Given the description of an element on the screen output the (x, y) to click on. 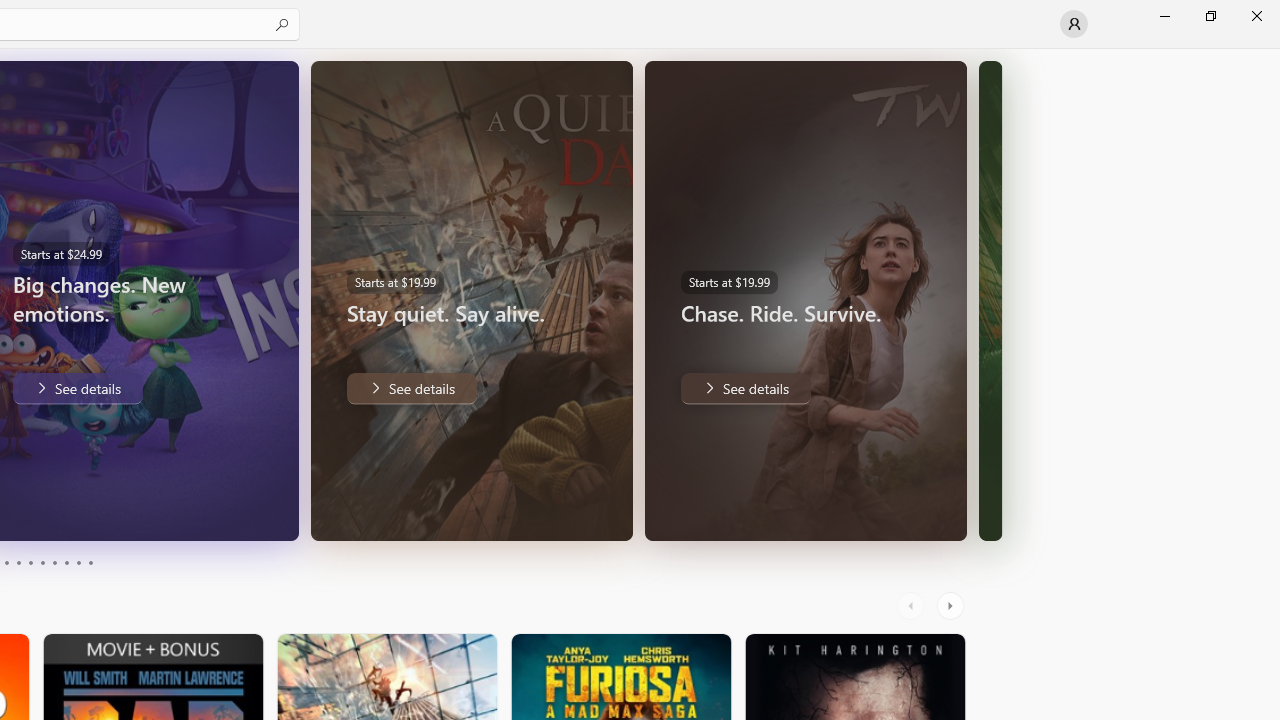
AutomationID: Image (989, 300)
Close Microsoft Store (1256, 15)
